Given the description of an element on the screen output the (x, y) to click on. 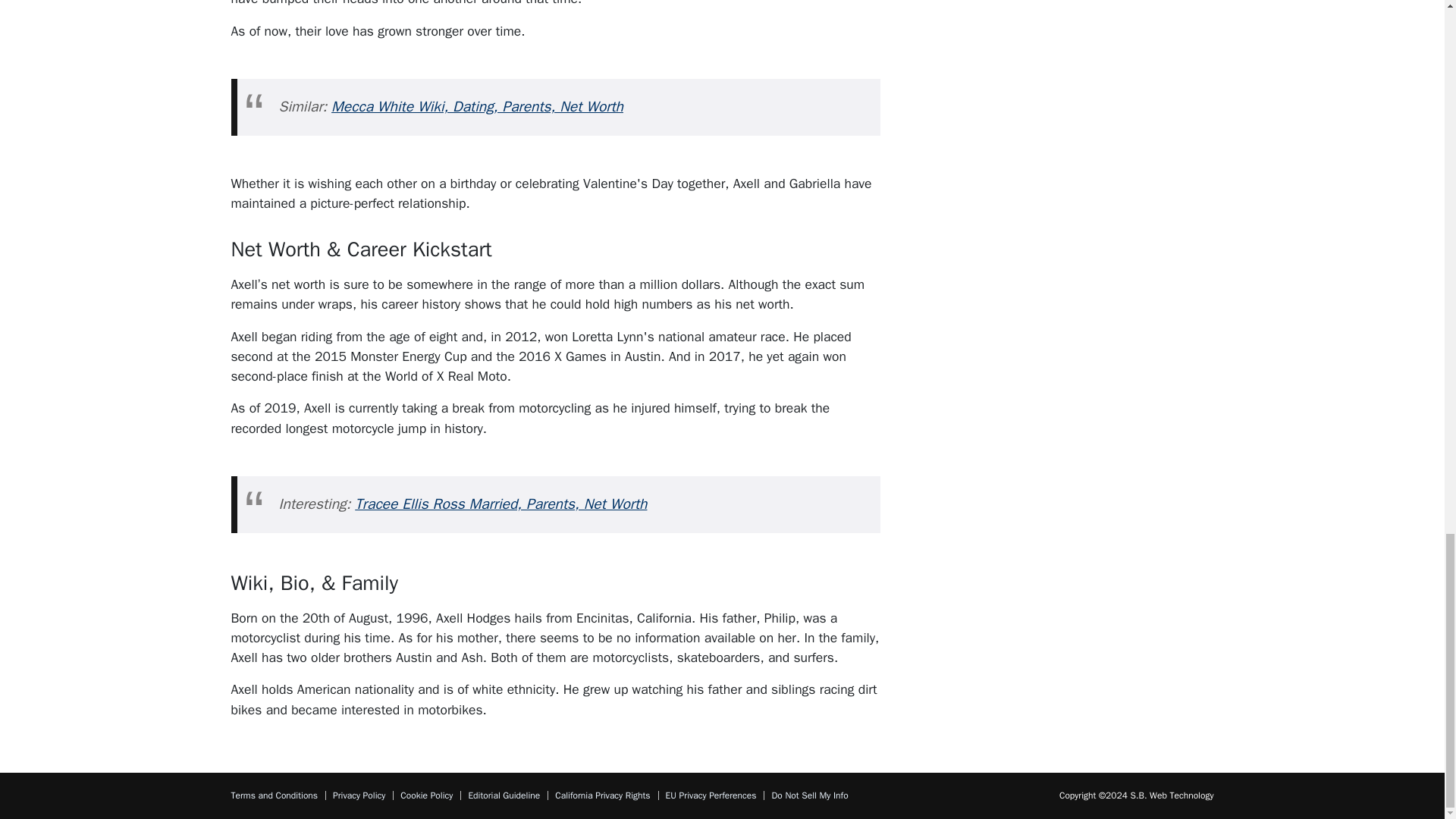
Privacy Policy (359, 795)
Tracee Ellis Ross Married, Parents, Net Worth (500, 503)
Terms and Conditions (273, 795)
Mecca White Wiki, Dating, Parents, Net Worth (477, 106)
